Given the description of an element on the screen output the (x, y) to click on. 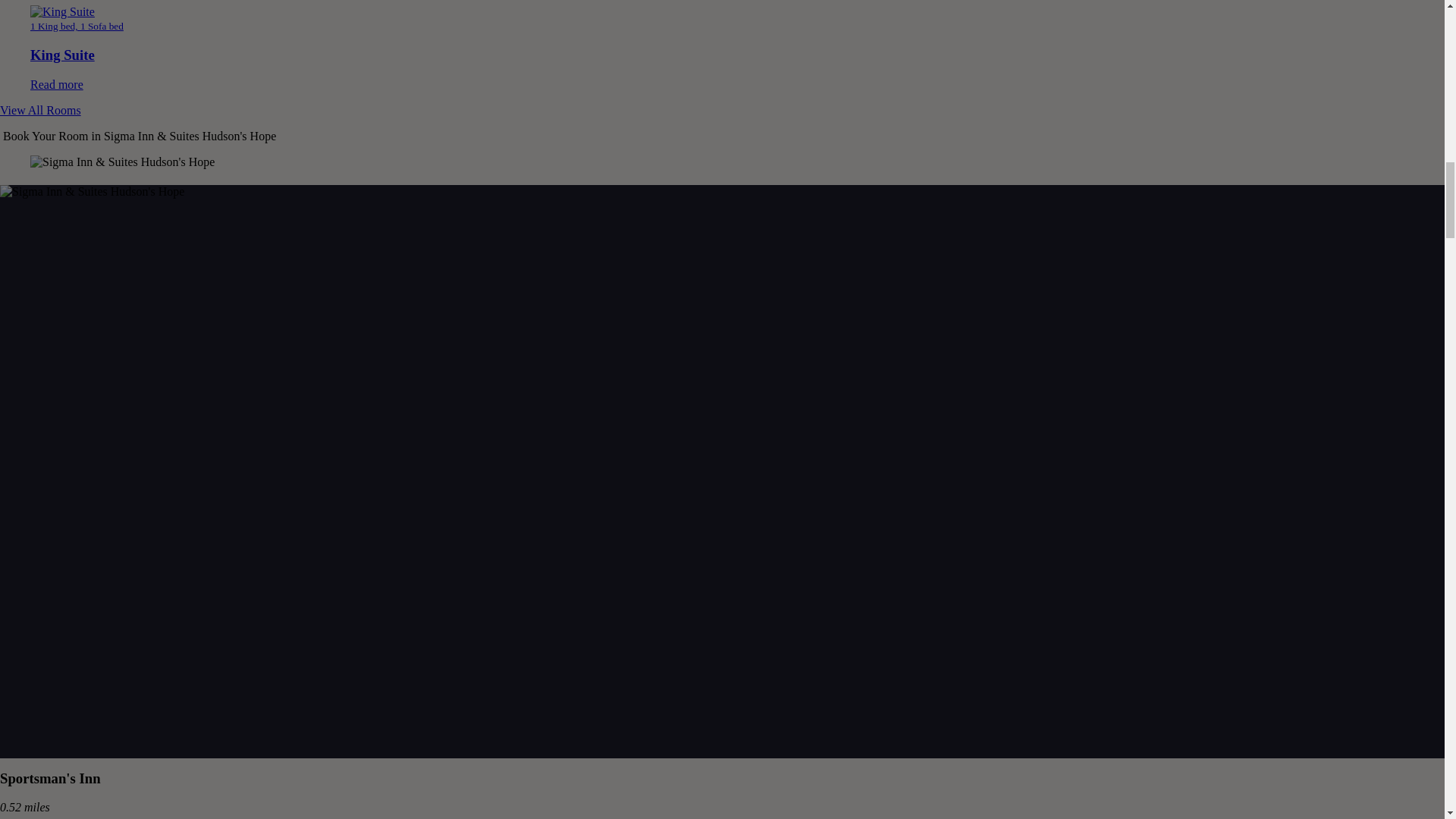
Sportsman's Inn (50, 778)
Hudson's Hope Visitor Centre (91, 398)
On the Rim (35, 719)
Hudson's Hope Suspension Bridge (104, 574)
Dinosaur Lake Campground (87, 456)
Trappers Cabin Recreation Site (96, 515)
Alwin Holland Campground (86, 339)
View All Rooms (40, 109)
